Given the description of an element on the screen output the (x, y) to click on. 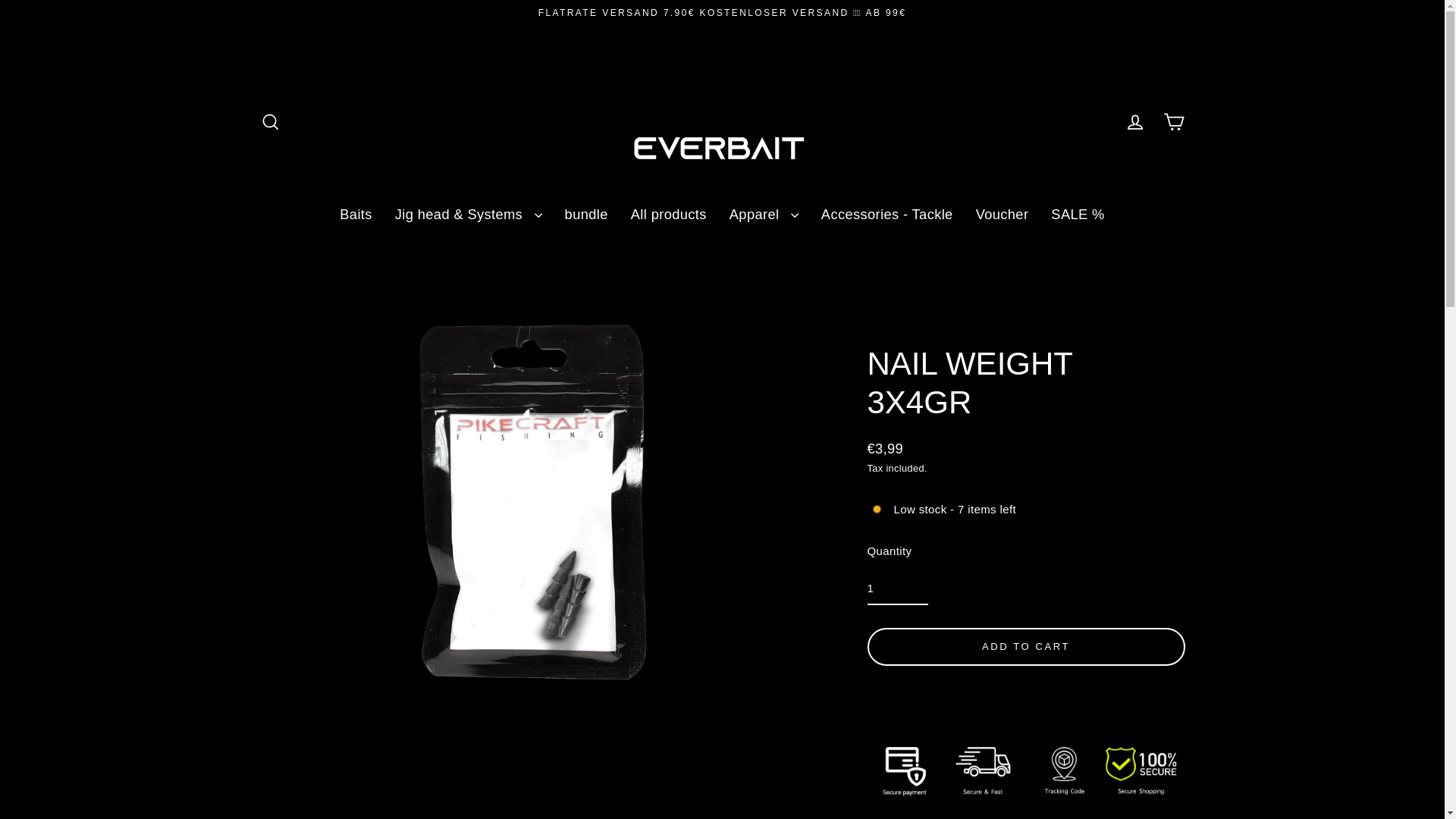
1 (897, 589)
Baits (356, 213)
bundle (586, 213)
Accessories - Tackle (886, 213)
All products (668, 213)
Voucher (1002, 213)
Log in (1134, 122)
Cart (1173, 122)
Search (269, 122)
